Given the description of an element on the screen output the (x, y) to click on. 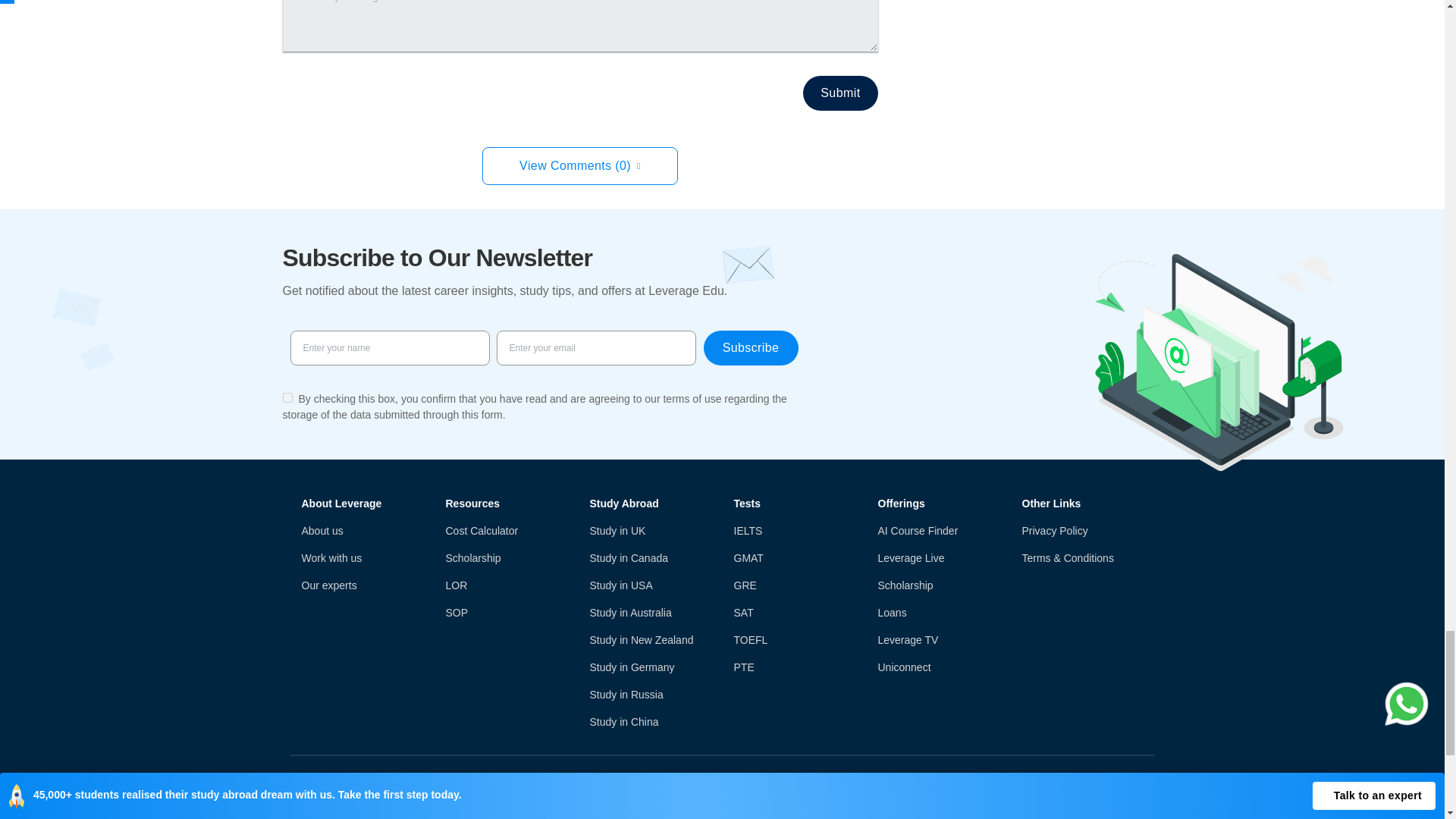
on (287, 397)
